Given the description of an element on the screen output the (x, y) to click on. 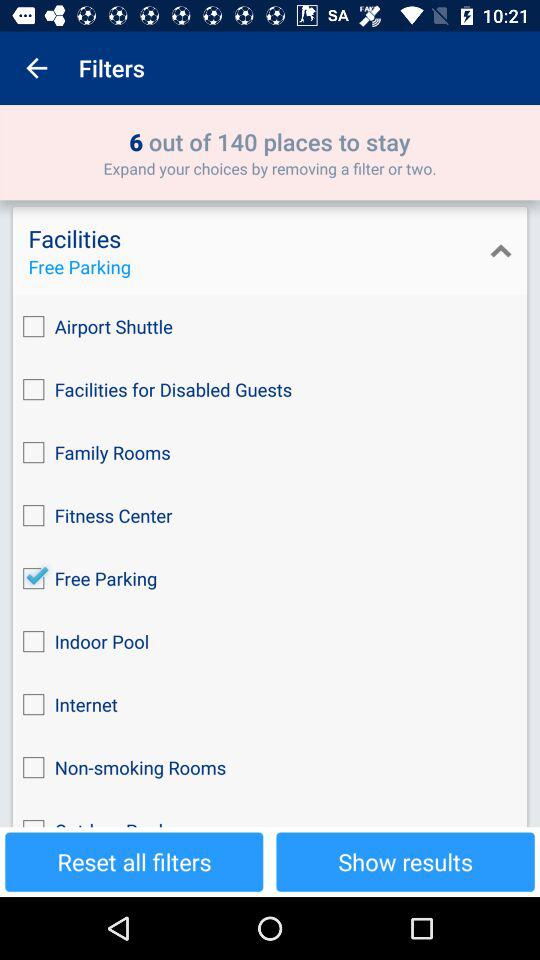
click the item below internet checkbox (269, 767)
